Given the description of an element on the screen output the (x, y) to click on. 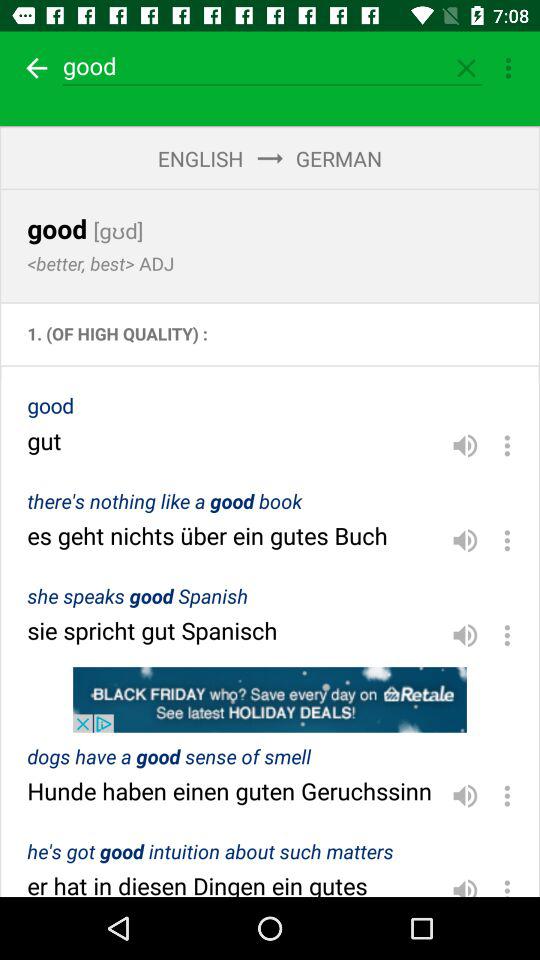
go back (33, 68)
